Given the description of an element on the screen output the (x, y) to click on. 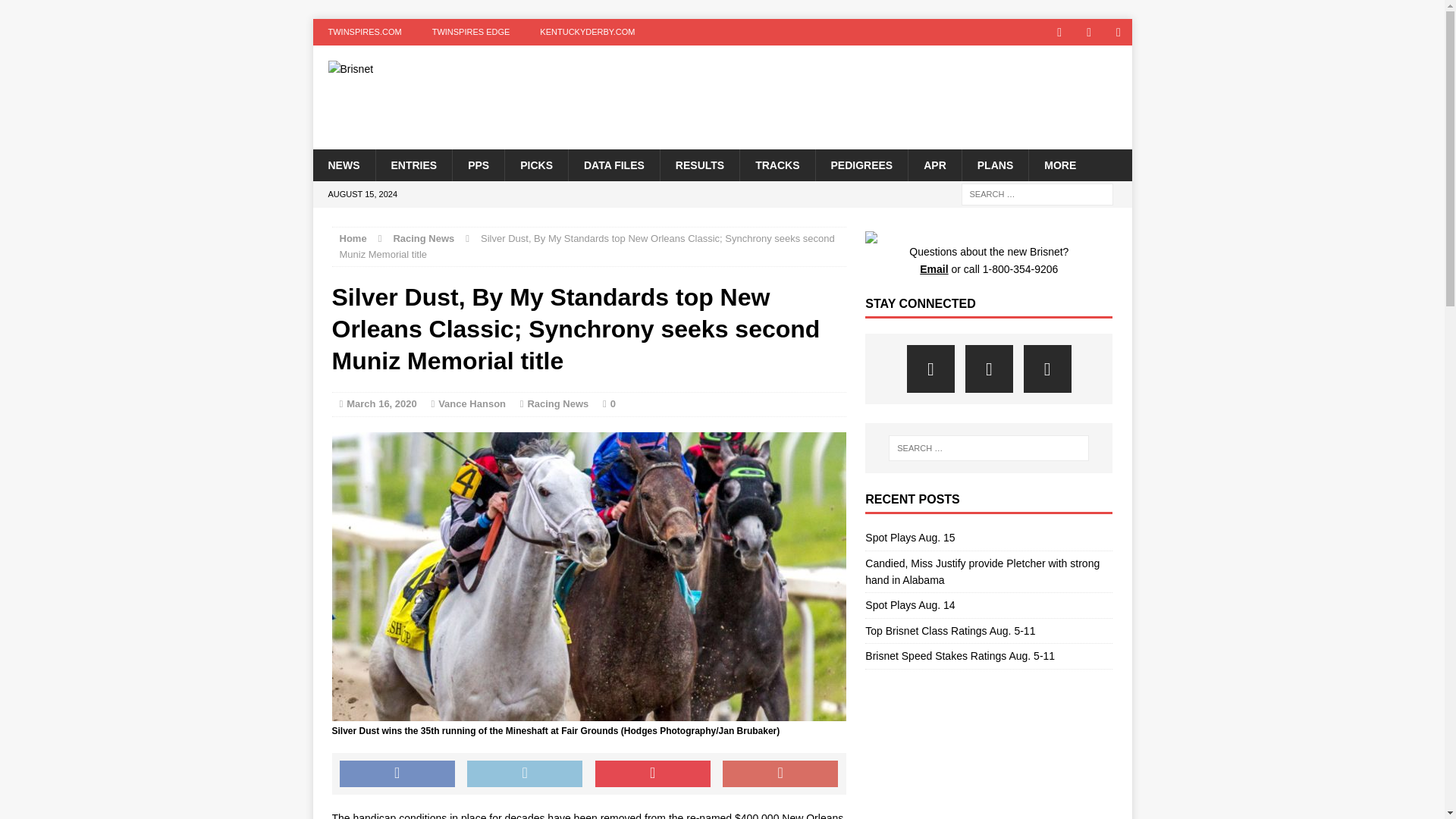
PICKS (535, 164)
Tweet This Post (524, 773)
RESULTS (699, 164)
Share on Facebook (396, 773)
TWINSPIRES.COM (364, 31)
PLANS (993, 164)
TWINSPIRES EDGE (470, 31)
DATA FILES (613, 164)
Brisnet (442, 68)
PEDIGREES (860, 164)
